Given the description of an element on the screen output the (x, y) to click on. 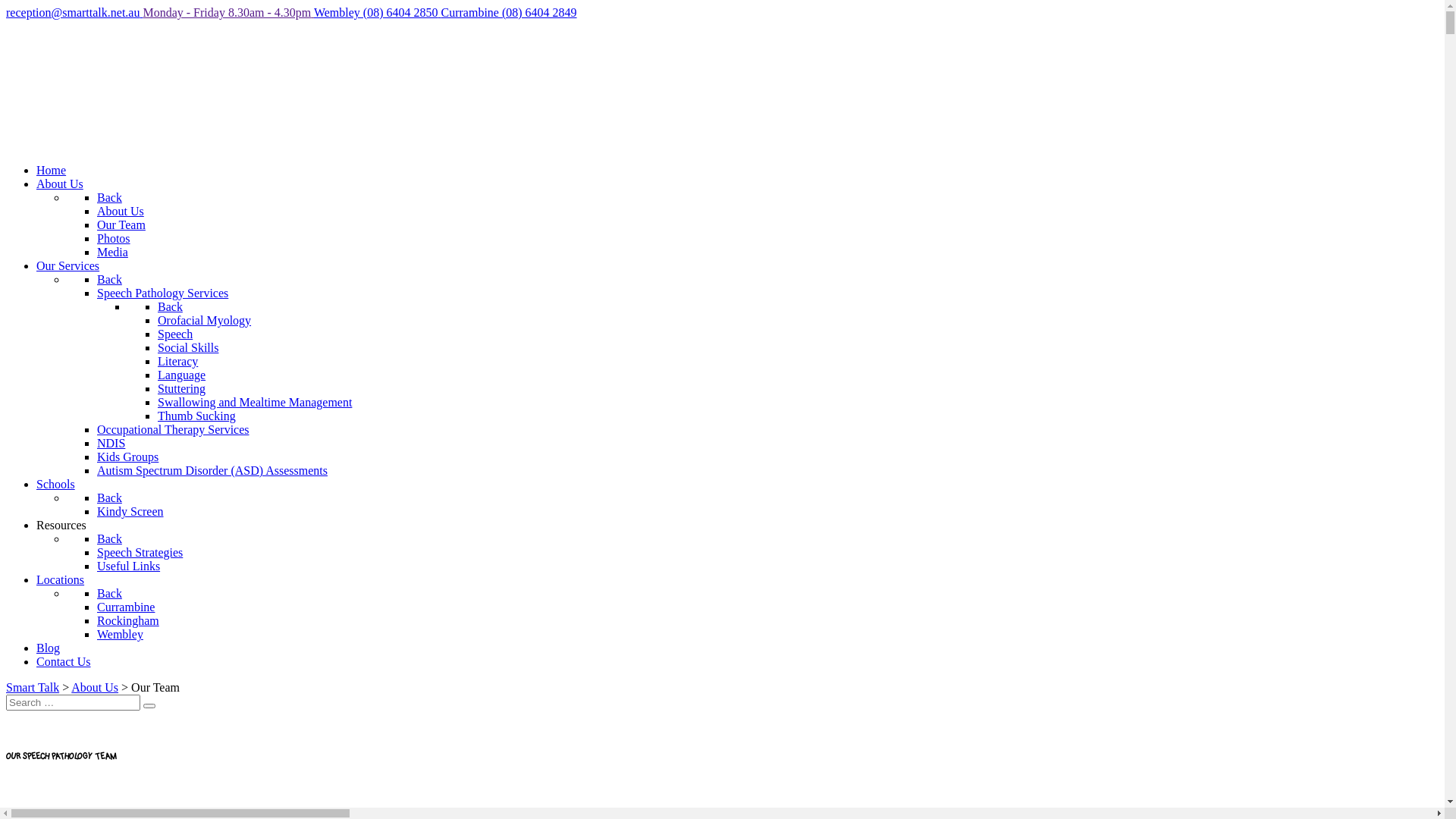
Orofacial Myology Element type: text (204, 319)
Currambine (08) 6404 2849 Element type: text (509, 12)
Back Element type: text (169, 306)
Back Element type: text (109, 592)
Kindy Screen Element type: text (130, 511)
About Us Element type: text (59, 183)
Swallowing and Mealtime Management Element type: text (254, 401)
Speech Strategies Element type: text (139, 552)
Literacy Element type: text (177, 360)
Our Team Element type: text (121, 224)
Currambine Element type: text (125, 606)
Monday - Friday 8.30am - 4.30pm Element type: text (227, 12)
Wembley Element type: text (120, 633)
Rockingham Element type: text (128, 620)
Back Element type: text (109, 197)
Social Skills Element type: text (187, 347)
Language Element type: text (181, 374)
reception@smarttalk.net.au Element type: text (74, 12)
Back Element type: text (109, 497)
Our Services Element type: text (67, 265)
Smart Talk Element type: text (32, 686)
Speech Pathology Services Element type: text (162, 292)
Thumb Sucking Element type: text (196, 415)
Contact Us Element type: text (63, 661)
Media Element type: text (112, 251)
Schools Element type: text (55, 483)
Search for: Element type: hover (73, 702)
Autism Spectrum Disorder (ASD) Assessments Element type: text (212, 470)
Occupational Therapy Services Element type: text (173, 429)
Wembley (08) 6404 2850 Element type: text (377, 12)
Back Element type: text (109, 279)
About Us Element type: text (94, 686)
Locations Element type: text (60, 579)
Kids Groups Element type: text (127, 456)
Blog Element type: text (47, 647)
NDIS Element type: text (111, 442)
Photos Element type: text (113, 238)
Back Element type: text (109, 538)
Smart Talk Therapy For Kids Element type: hover (70, 144)
About Us Element type: text (120, 210)
Useful Links Element type: text (128, 565)
Speech Element type: text (174, 333)
Home Element type: text (50, 169)
Stuttering Element type: text (181, 388)
